Given the description of an element on the screen output the (x, y) to click on. 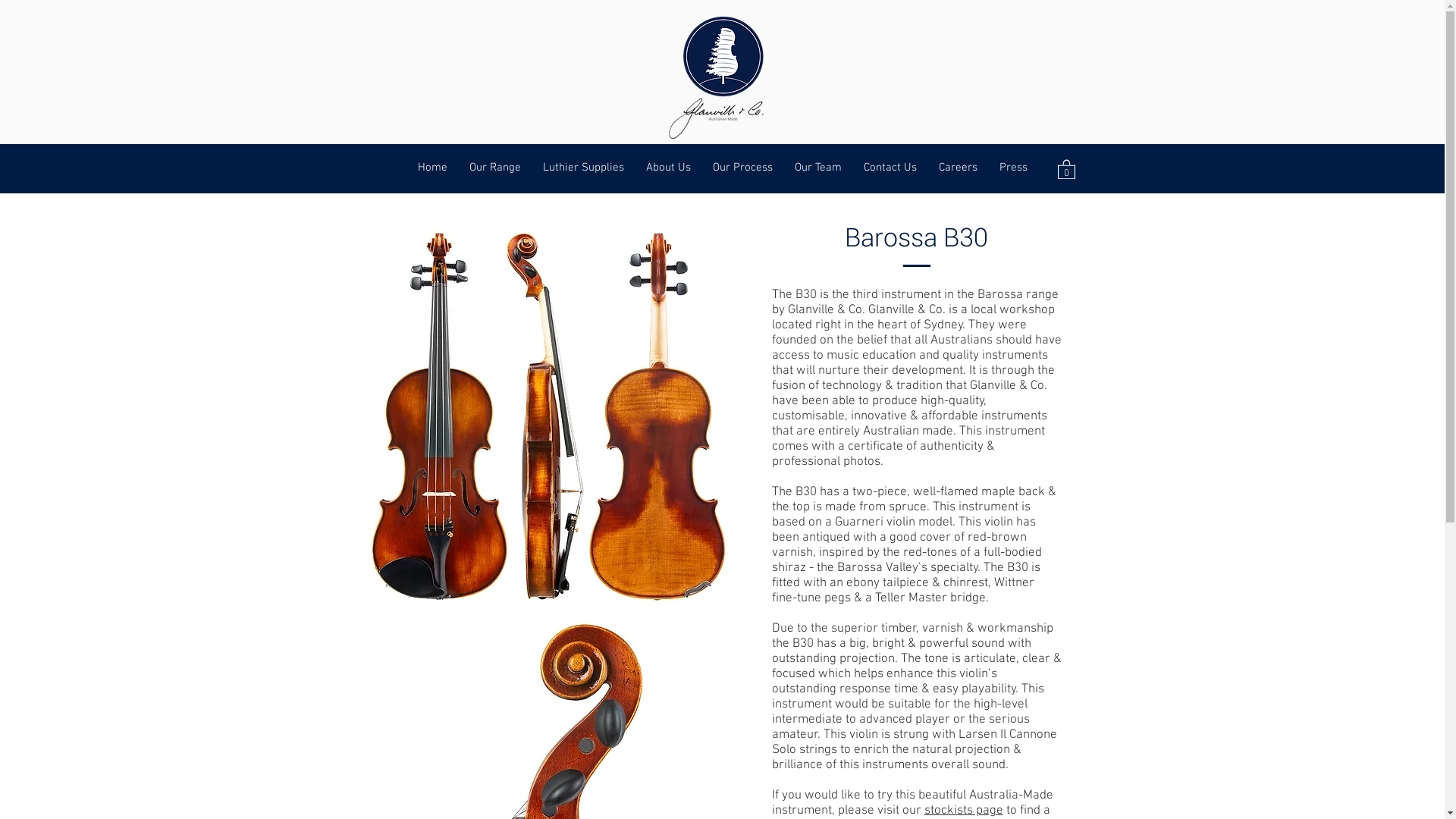
Home Element type: text (432, 167)
Careers Element type: text (958, 167)
0 Element type: text (1065, 168)
About Us Element type: text (668, 167)
stockists page Element type: text (962, 810)
Press Element type: text (1013, 167)
Our Process Element type: text (743, 167)
Our Team Element type: text (818, 167)
Contact Us Element type: text (889, 167)
Luthier Supplies Element type: text (583, 167)
Our Range Element type: text (494, 167)
